Given the description of an element on the screen output the (x, y) to click on. 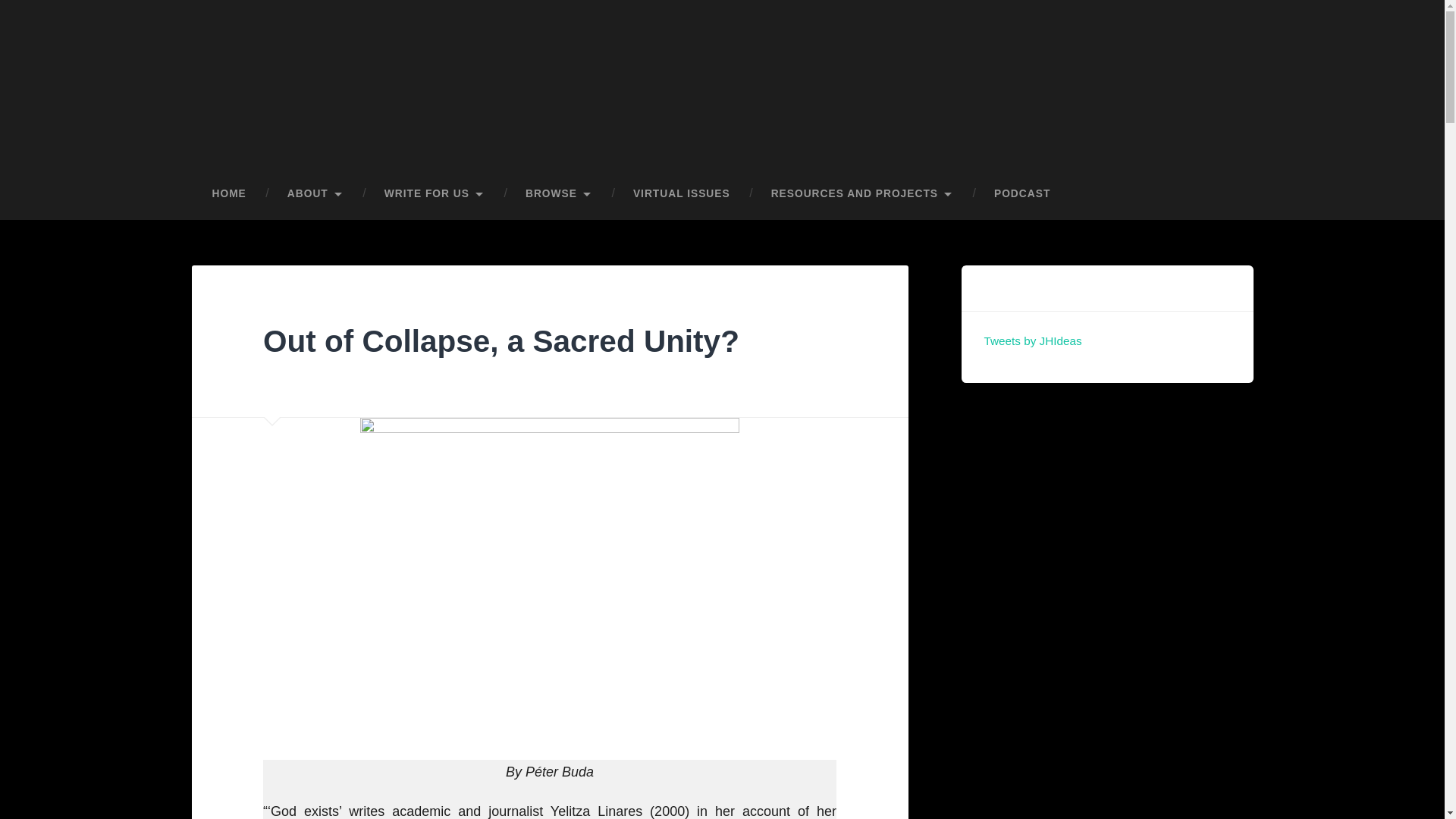
HOME (228, 194)
RESOURCES AND PROJECTS (862, 194)
VIRTUAL ISSUES (681, 194)
WRITE FOR US (434, 194)
Out of Collapse, a Sacred Unity? (501, 340)
ABOUT (315, 194)
BROWSE (558, 194)
PODCAST (1022, 194)
